Given the description of an element on the screen output the (x, y) to click on. 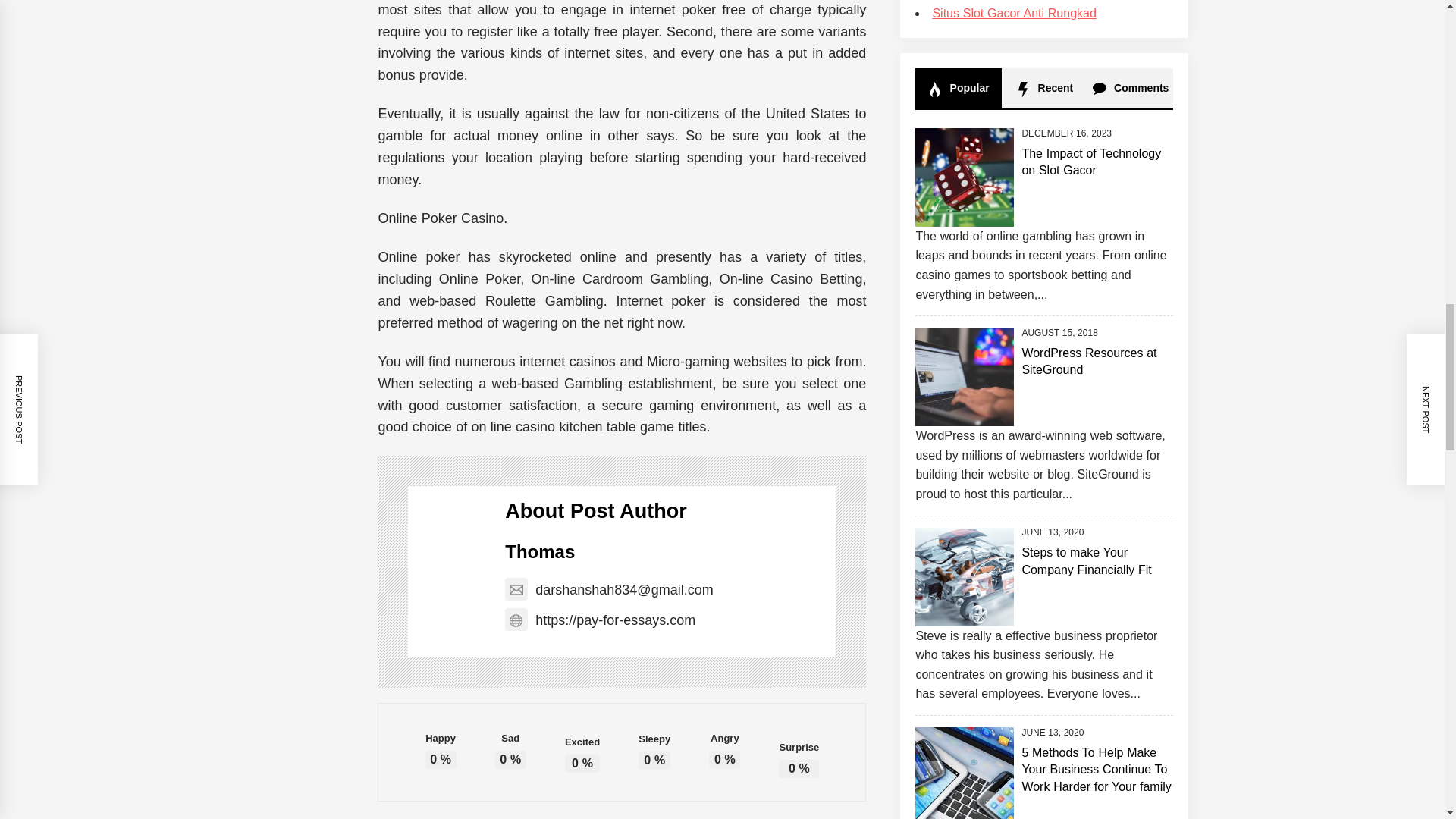
Thomas (540, 551)
